Given the description of an element on the screen output the (x, y) to click on. 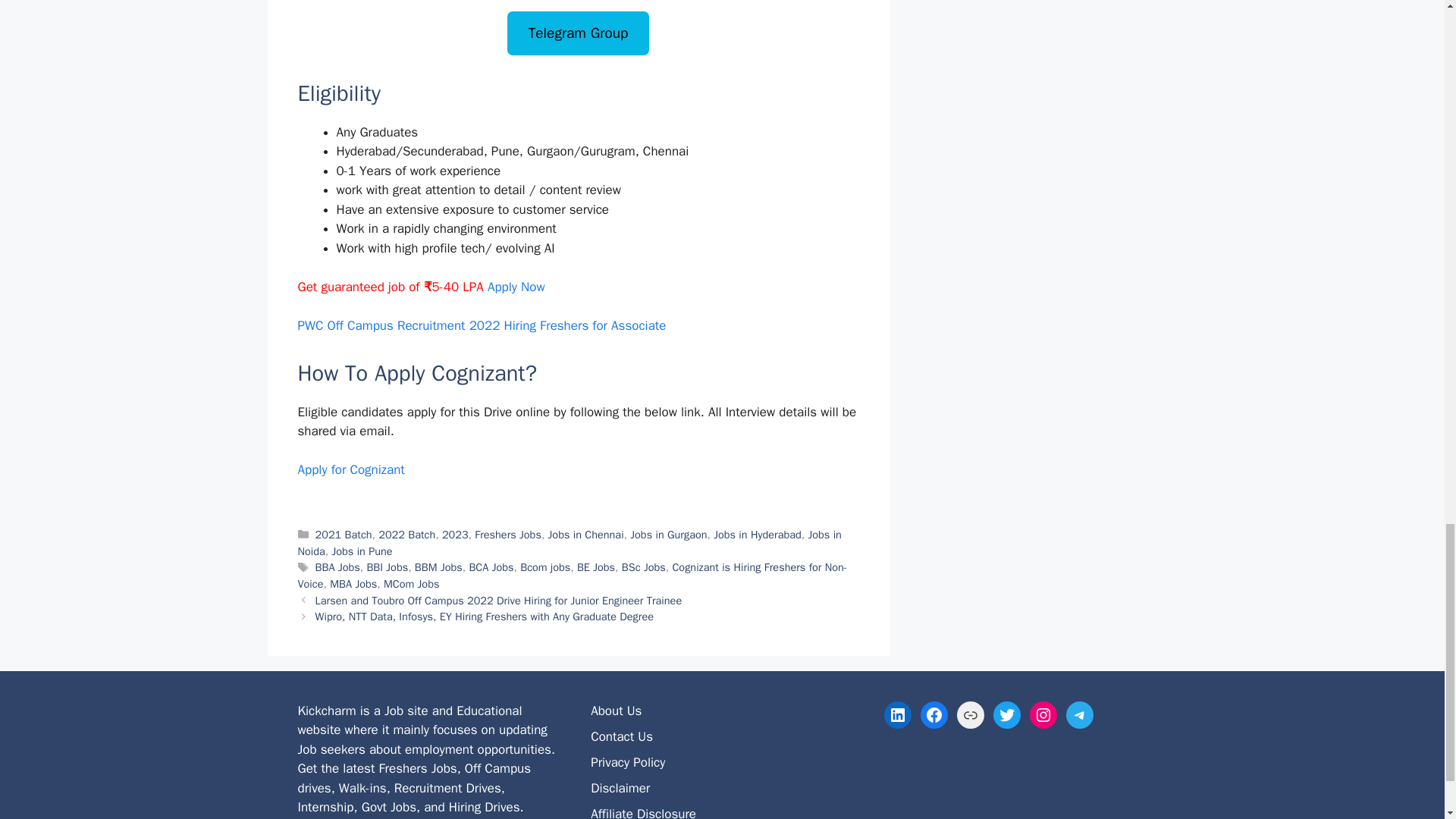
BBI Jobs (386, 567)
Apply for Cognizant (350, 469)
Jobs in Hyderabad (757, 534)
Bcom jobs (544, 567)
Jobs in Gurgaon (668, 534)
BE Jobs (595, 567)
Jobs in Noida (569, 542)
Apply Now (515, 286)
2021 Batch (343, 534)
